Given the description of an element on the screen output the (x, y) to click on. 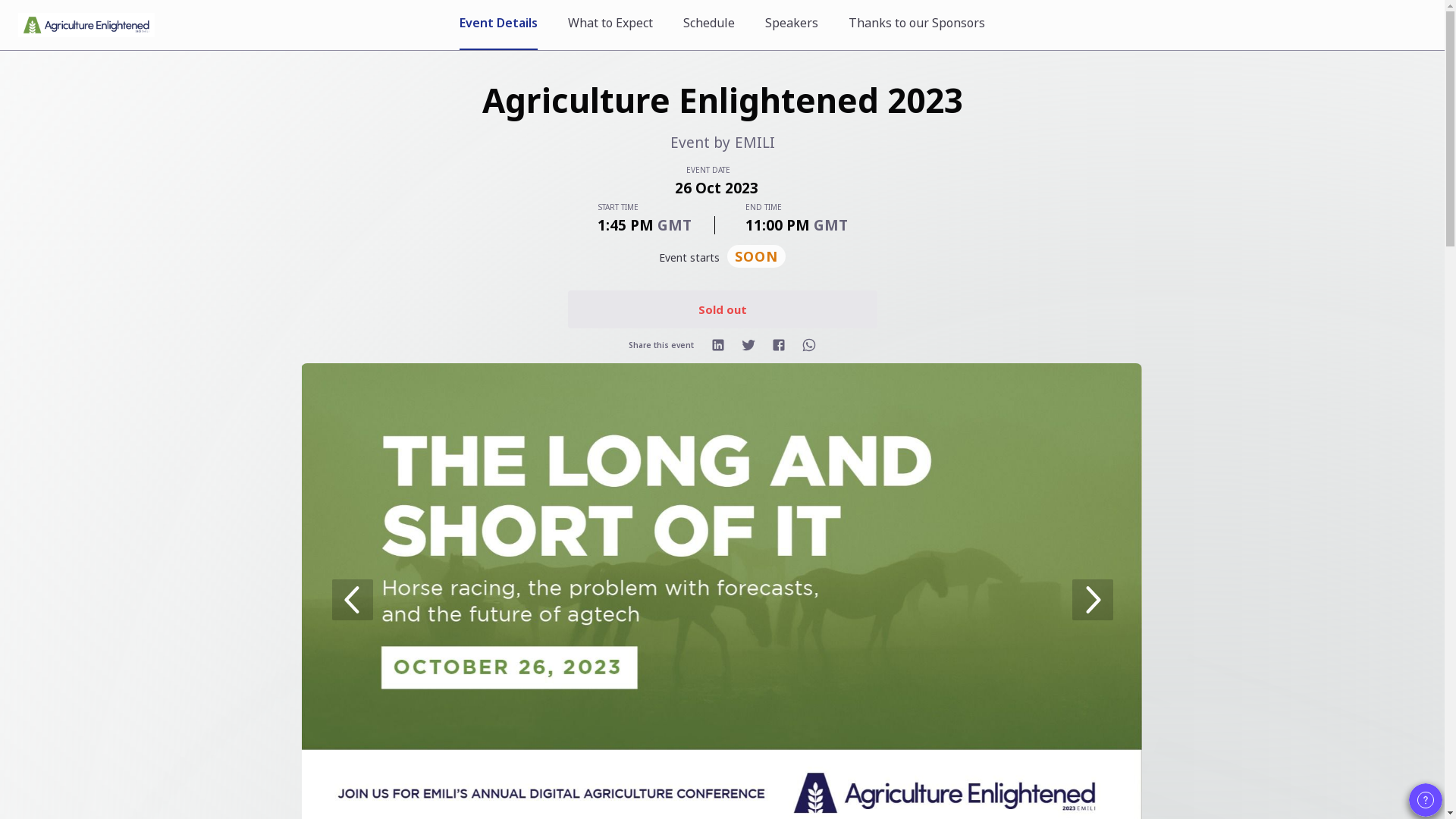
Speakers Element type: text (791, 22)
What to Expect Element type: text (609, 22)
Sold out Element type: text (721, 309)
Thanks to our Sponsors Element type: text (916, 22)
Schedule Element type: text (708, 22)
Event Details Element type: text (498, 22)
